Given the description of an element on the screen output the (x, y) to click on. 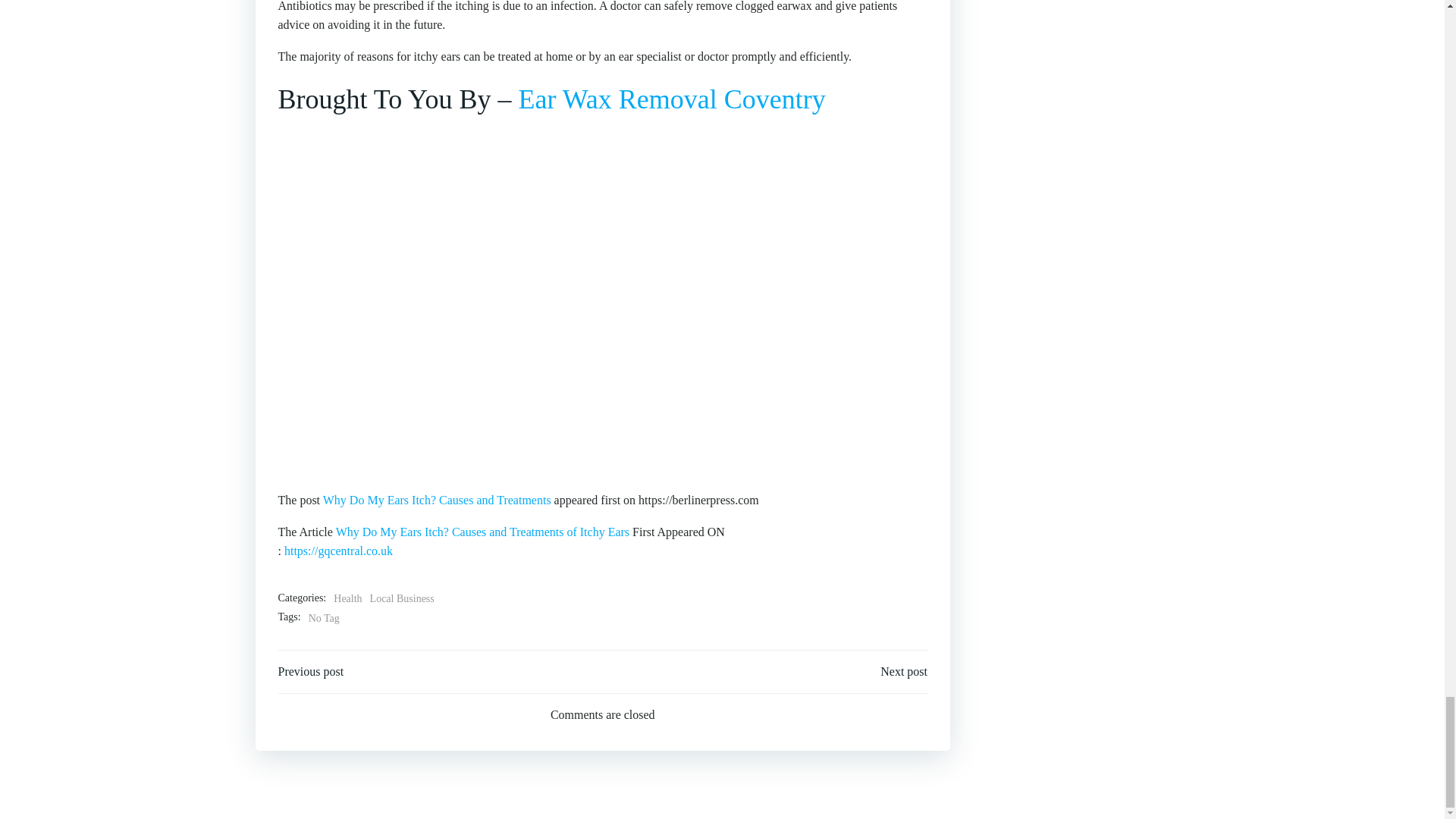
Local Business (401, 598)
Next post (903, 671)
Previous post (310, 671)
Health (347, 598)
Why Do My Ears Itch? Causes and Treatments of Itchy Ears (482, 531)
Ear Wax Removal Coventry (671, 99)
Why Do My Ears Itch? Causes and Treatments (437, 499)
